Given the description of an element on the screen output the (x, y) to click on. 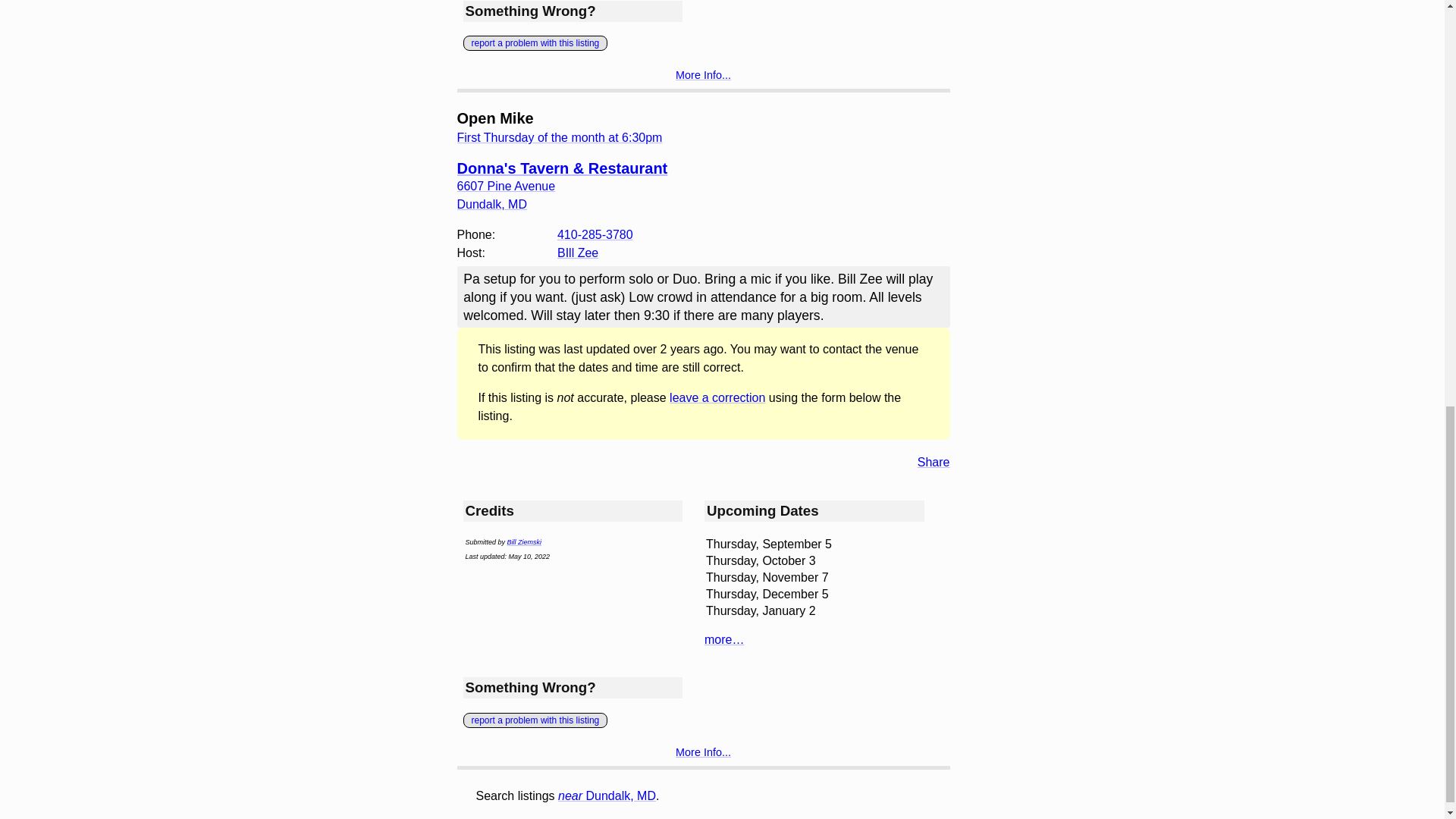
410-285-3780 (595, 235)
near Dundalk, MD (606, 795)
Bill Ziemski (523, 542)
leave a correction (717, 397)
report a problem with this listing (535, 43)
show next scheduled date (559, 137)
More Info... (702, 752)
report a problem with this listing (535, 720)
First Thursday of the month at 6:30pm (559, 137)
More Info... (702, 74)
